Given the description of an element on the screen output the (x, y) to click on. 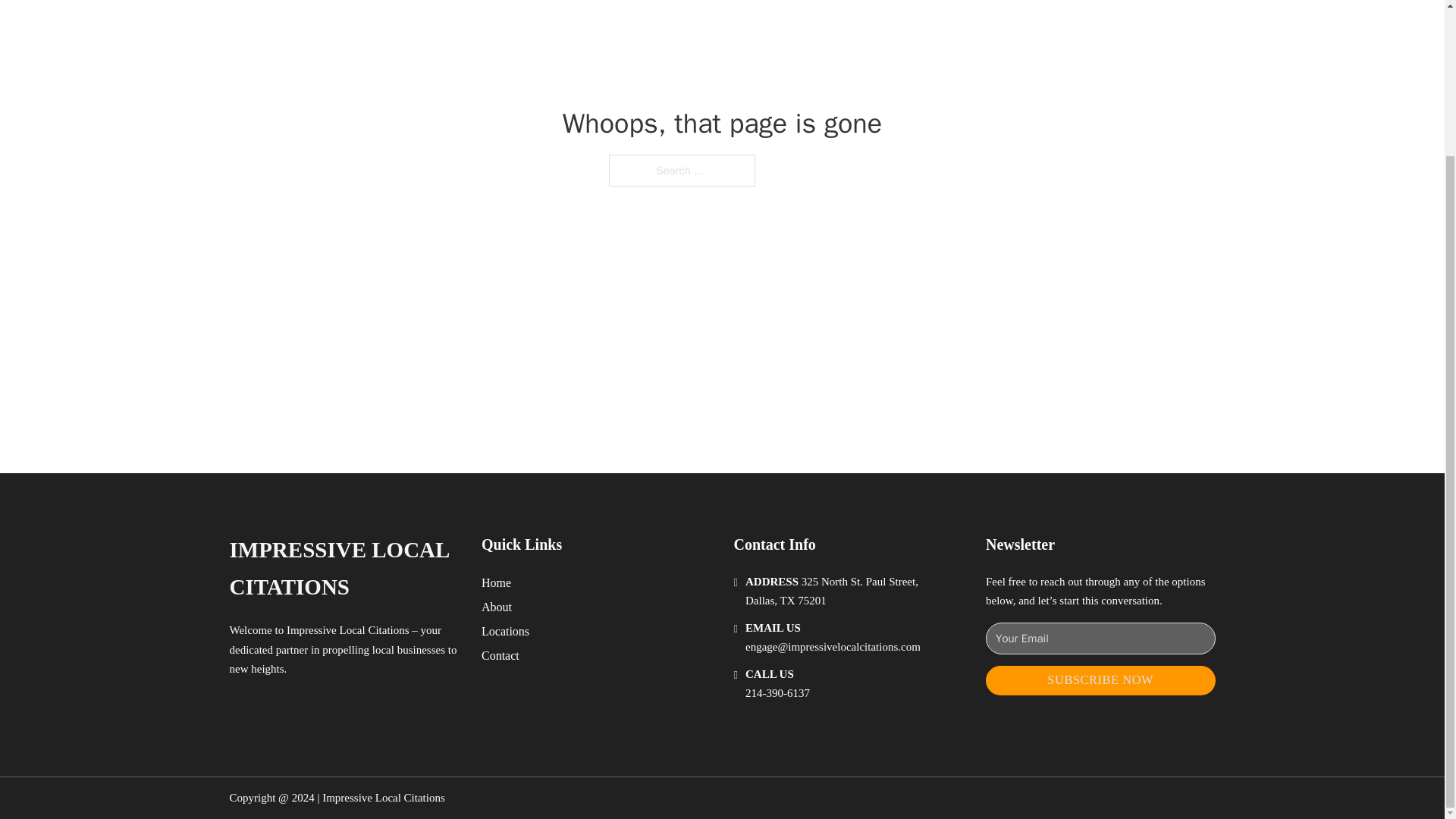
SUBSCRIBE NOW (1100, 680)
Home (496, 582)
Contact (500, 655)
About (496, 607)
IMPRESSIVE LOCAL CITATIONS (343, 568)
214-390-6137 (777, 693)
Locations (505, 630)
